Given the description of an element on the screen output the (x, y) to click on. 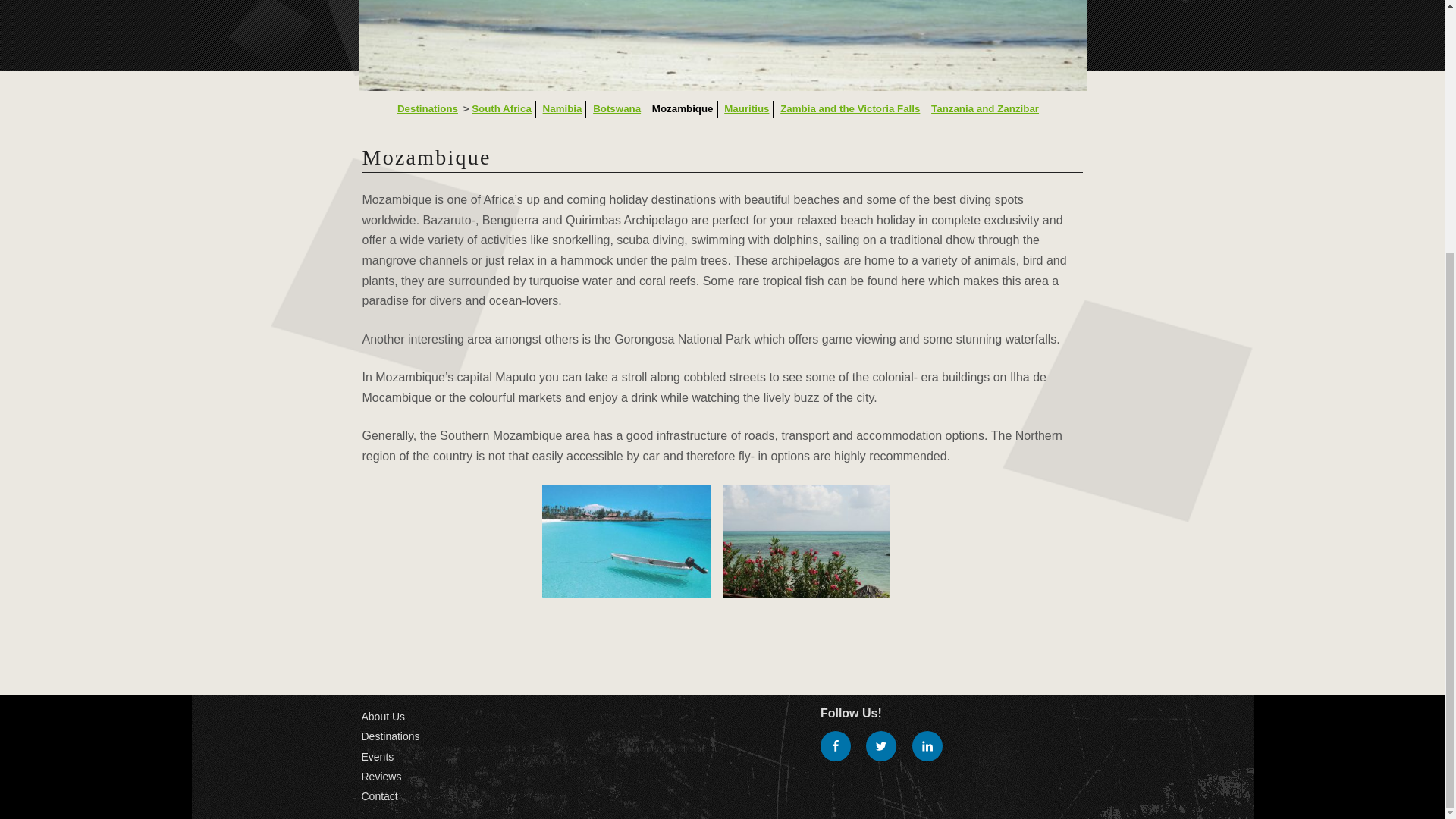
About Us (382, 716)
Botswana (616, 108)
Namibia (562, 108)
Mauritius (745, 108)
Twitter (881, 746)
South Africa (501, 108)
Zambia and the Victoria Falls (850, 108)
LinkedIn (927, 746)
Facebook (835, 746)
Reviews (381, 776)
